Given the description of an element on the screen output the (x, y) to click on. 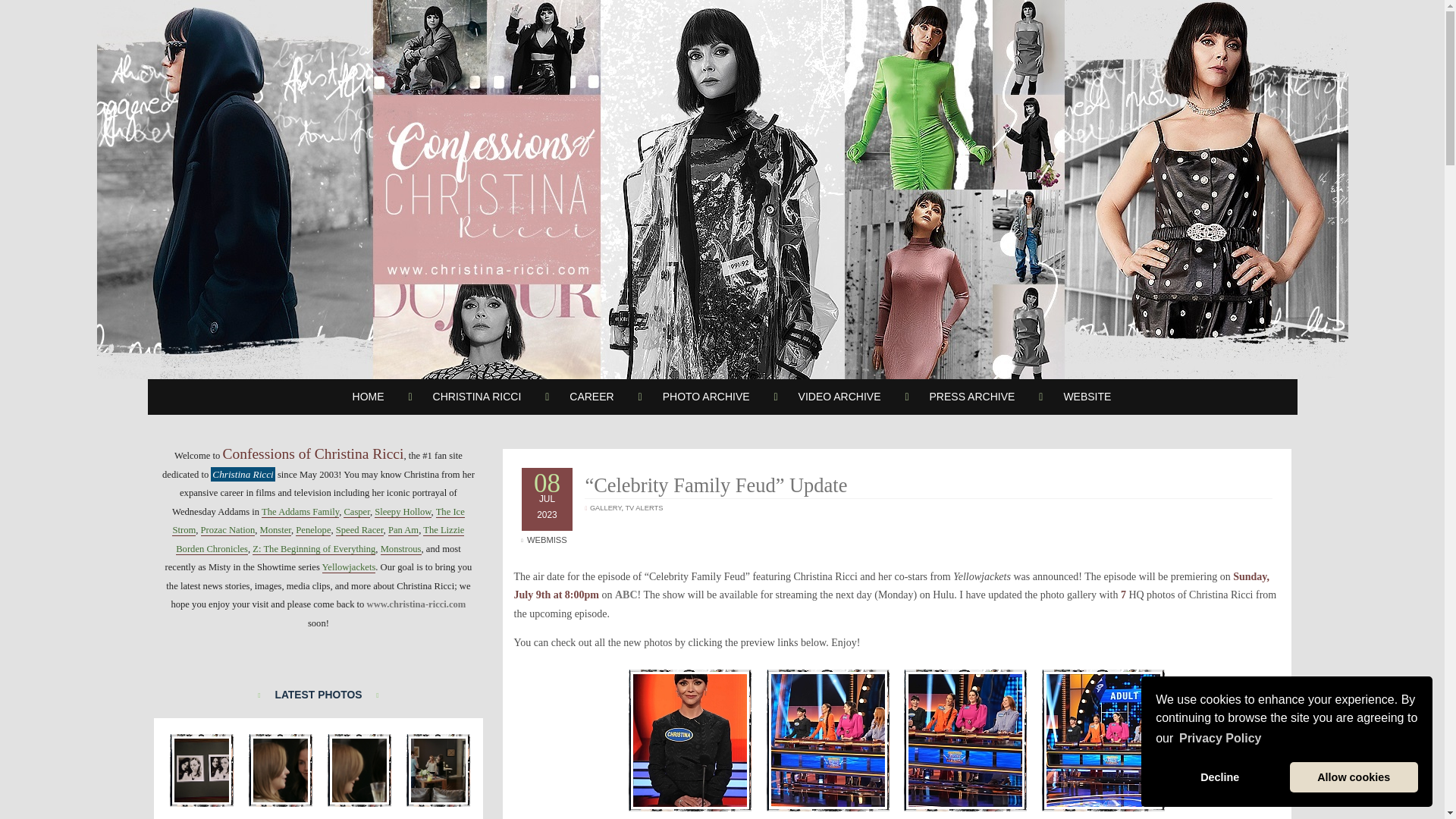
PHOTO ARCHIVE (706, 395)
CAREER (591, 395)
PRESS ARCHIVE (972, 395)
Confessions of Christina Ricci (689, 739)
0473.jpg (438, 769)
CHRISTINA RICCI (477, 395)
Allow cookies (1354, 777)
WEBSITE (1087, 395)
Confessions of Christina Ricci (828, 739)
Confessions of Christina Ricci (965, 739)
VIDEO ARCHIVE (839, 395)
0471.jpg (280, 769)
0472.jpg (359, 769)
Privacy Policy (1219, 738)
HOME (368, 395)
